Given the description of an element on the screen output the (x, y) to click on. 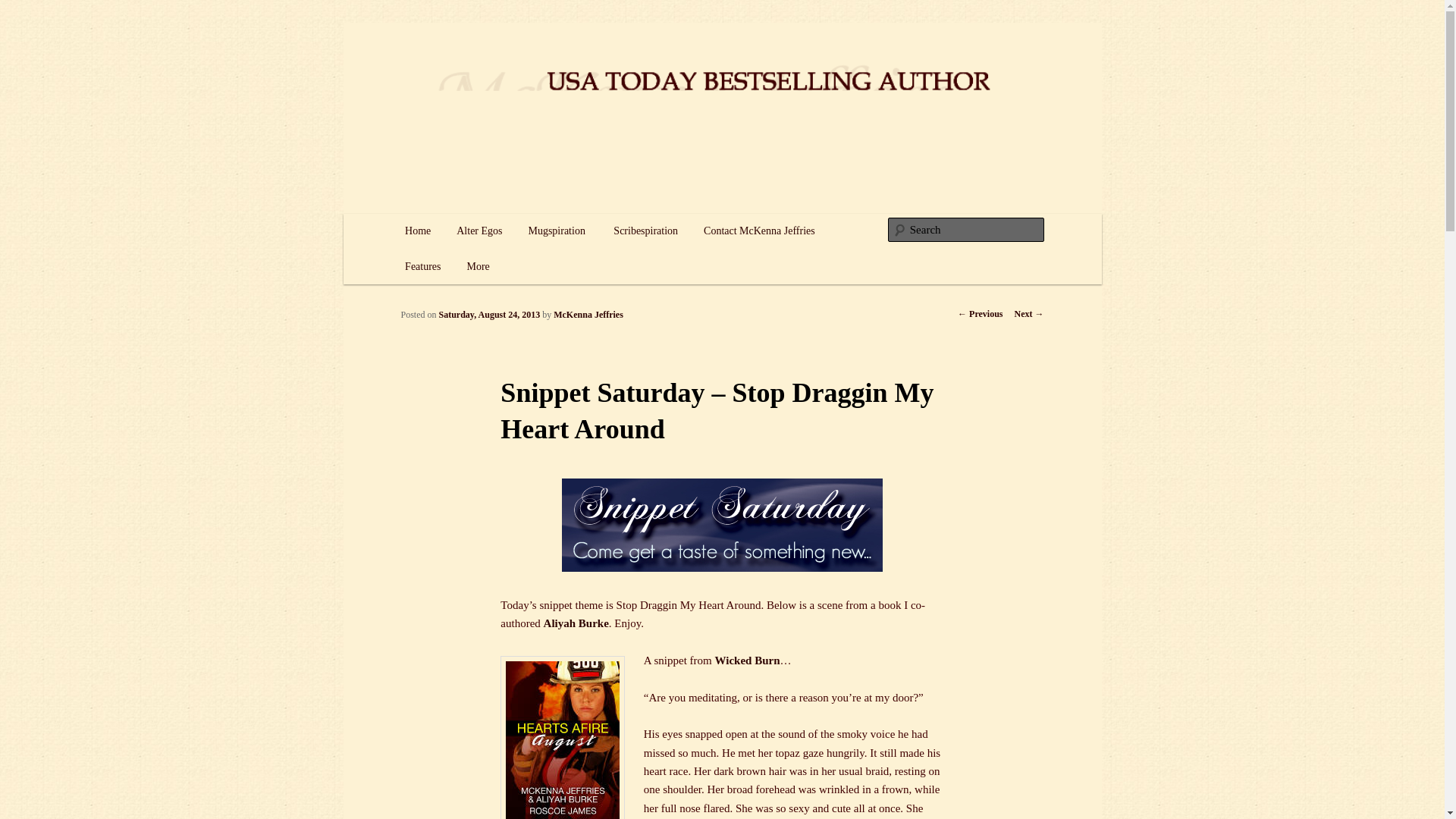
Search (24, 8)
View all posts by McKenna Jeffries (588, 314)
blog-header-option2 (722, 524)
Saturday, August 24, 2013 (489, 314)
Features (421, 267)
McKenna Jeffries (486, 78)
McKenna Jeffries (588, 314)
Home (417, 231)
Aliyah Burke (575, 623)
6:57 am (489, 314)
More (477, 267)
Scribespiration (644, 231)
Mugspiration  (557, 231)
Alter Egos (479, 231)
